Given the description of an element on the screen output the (x, y) to click on. 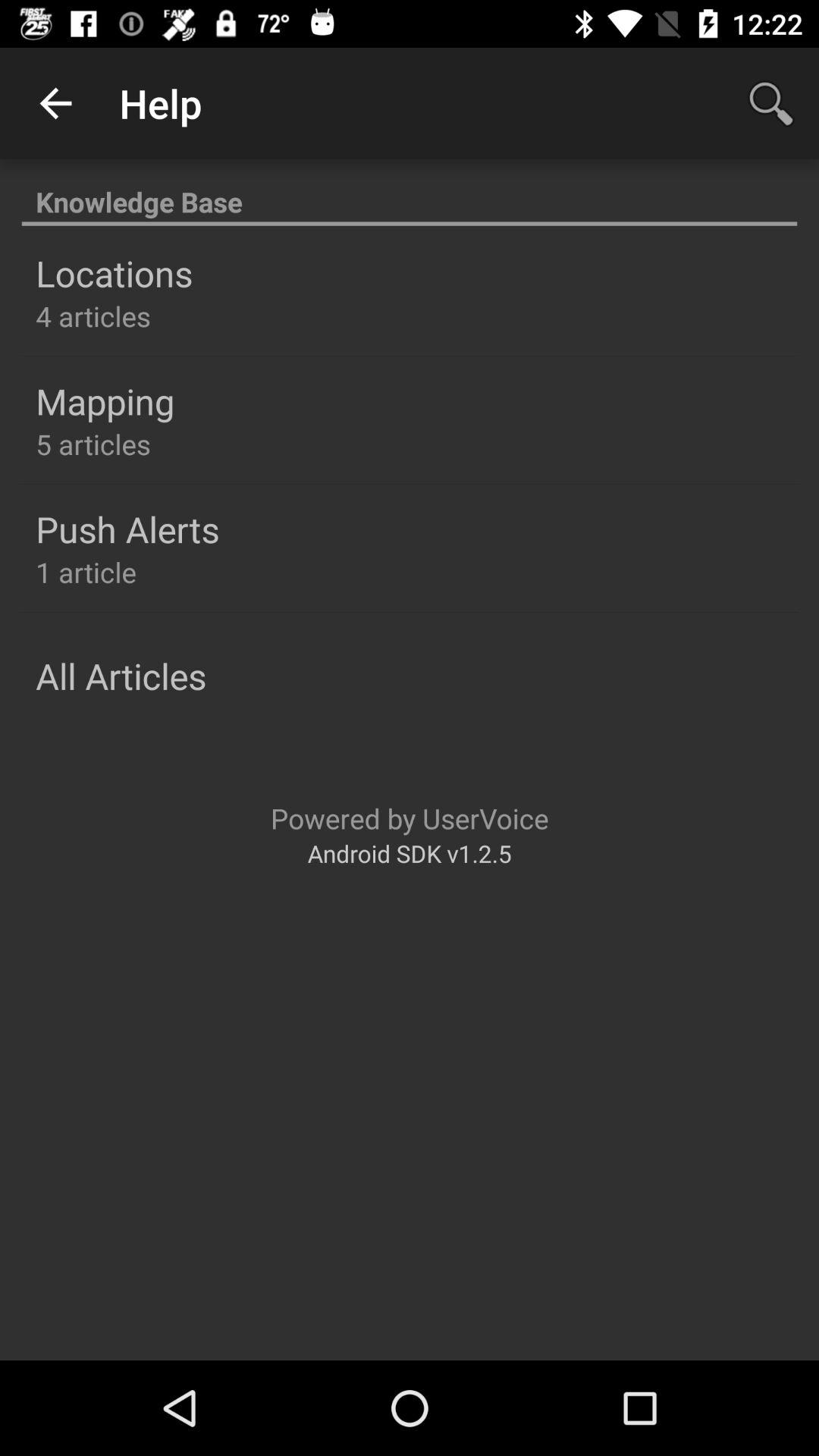
press app next to the help app (771, 103)
